Given the description of an element on the screen output the (x, y) to click on. 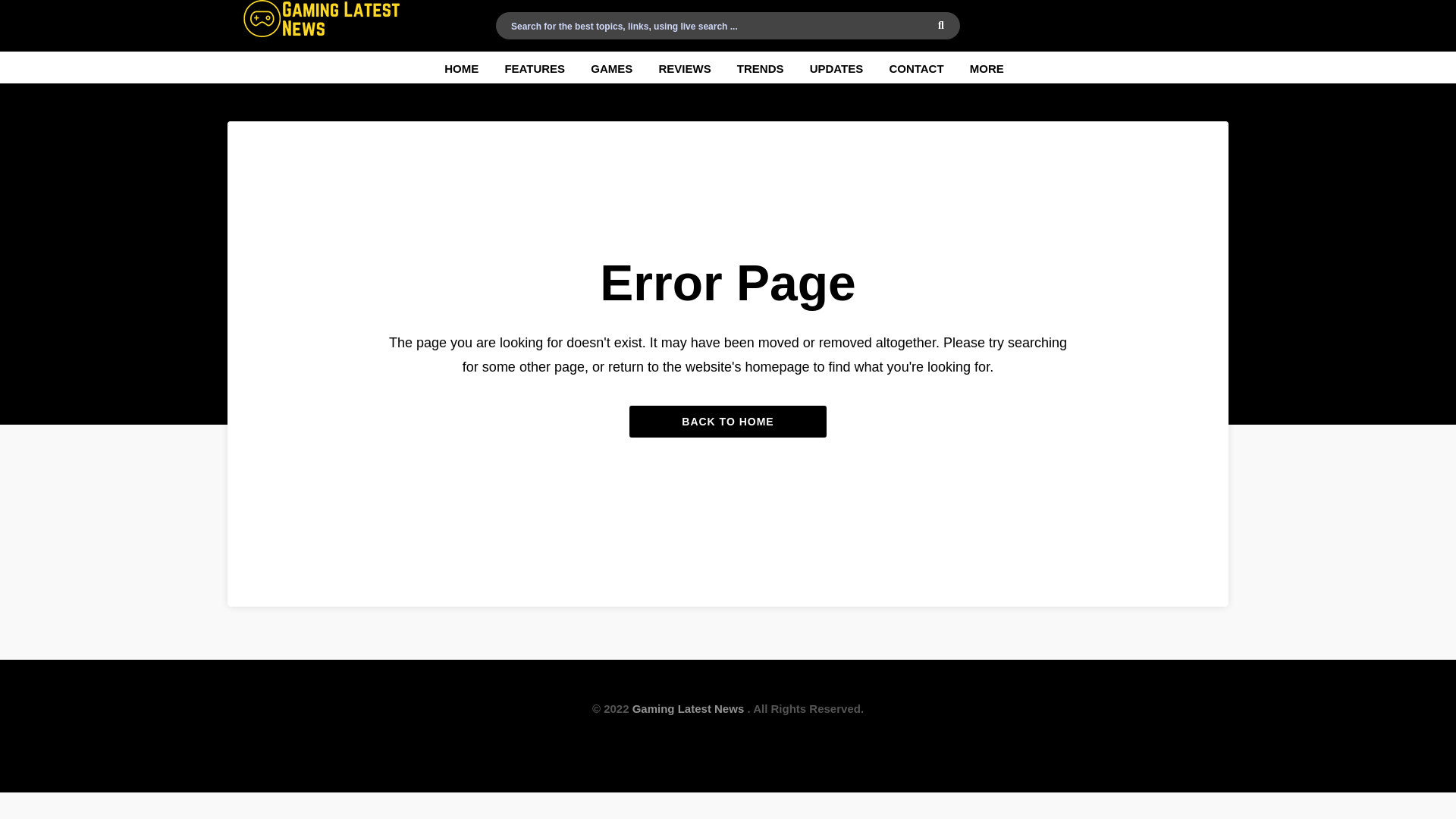
Gaming Latest News (687, 707)
GAMES (611, 66)
TRENDS (760, 66)
MORE (986, 66)
BACK TO HOME (727, 421)
HOME (461, 66)
FEATURES (534, 66)
CONTACT (915, 66)
UPDATES (836, 66)
REVIEWS (683, 66)
